Given the description of an element on the screen output the (x, y) to click on. 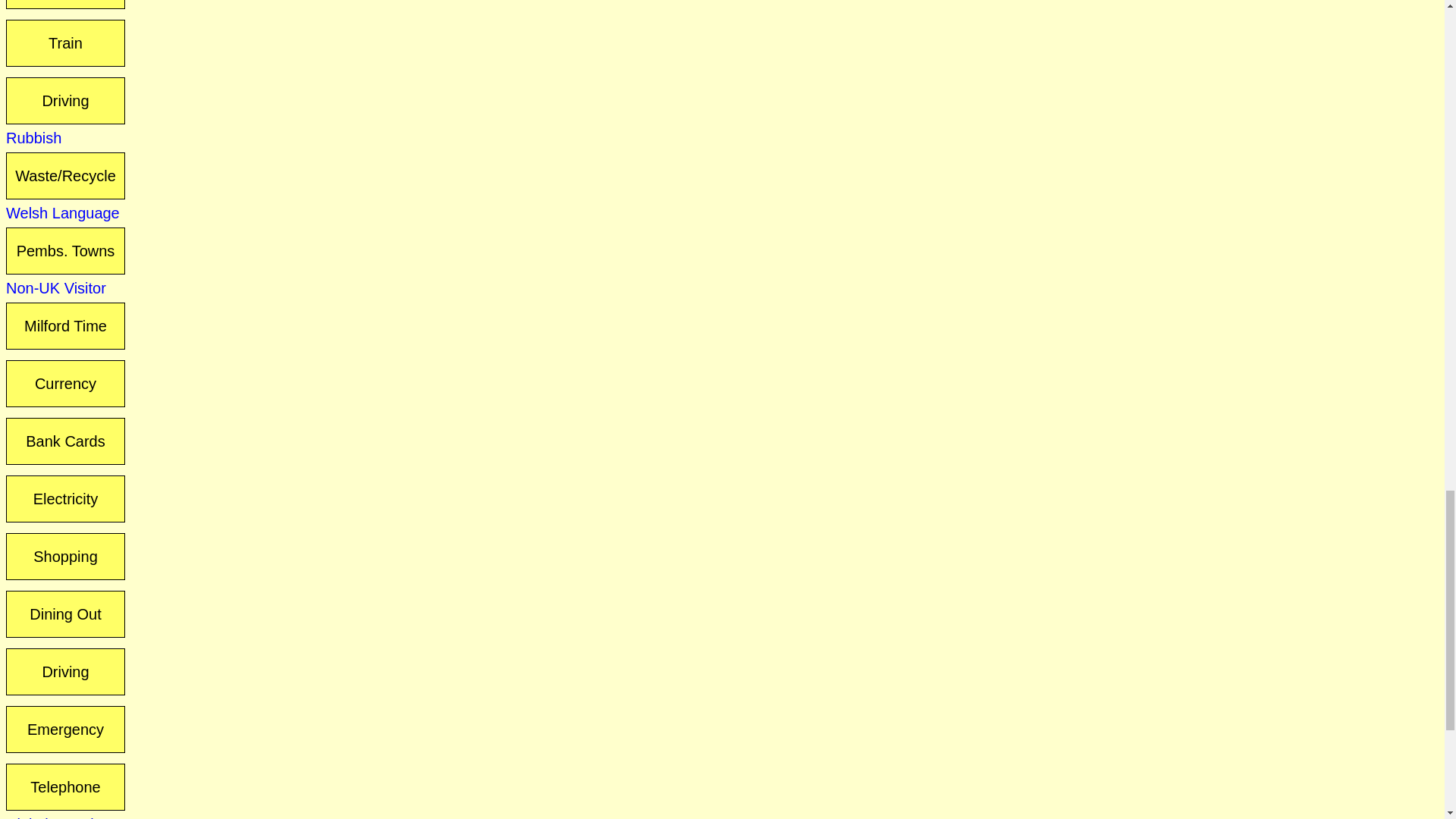
Driving (65, 100)
Shopping (65, 556)
Bank Cards (65, 441)
Driving (65, 671)
Currency (65, 383)
Milford Time (65, 325)
Dining Out (65, 614)
Pembs. Towns (65, 250)
Electricity (65, 498)
Bus (65, 4)
